Given the description of an element on the screen output the (x, y) to click on. 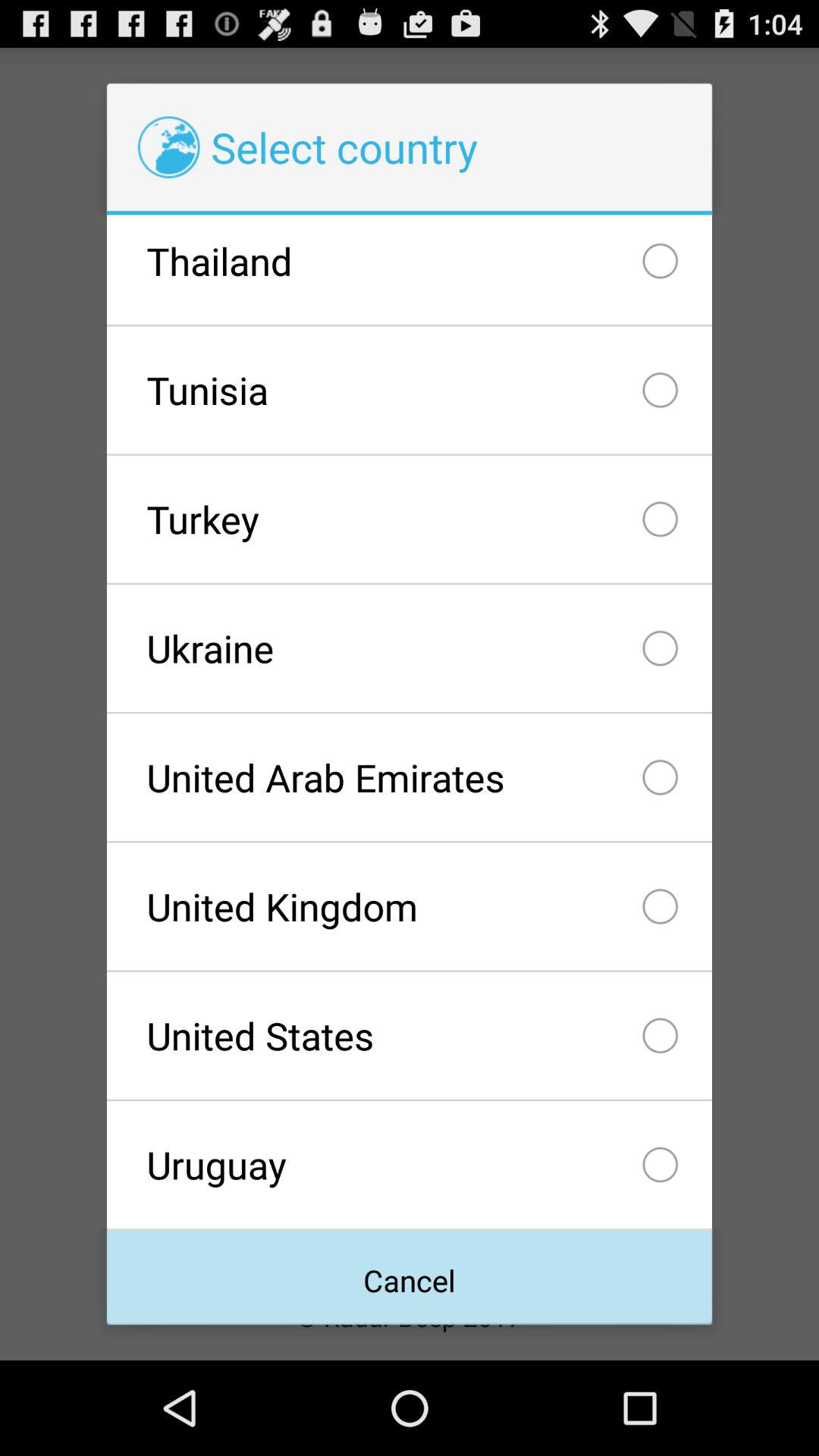
click the united arab emirates item (409, 777)
